Given the description of an element on the screen output the (x, y) to click on. 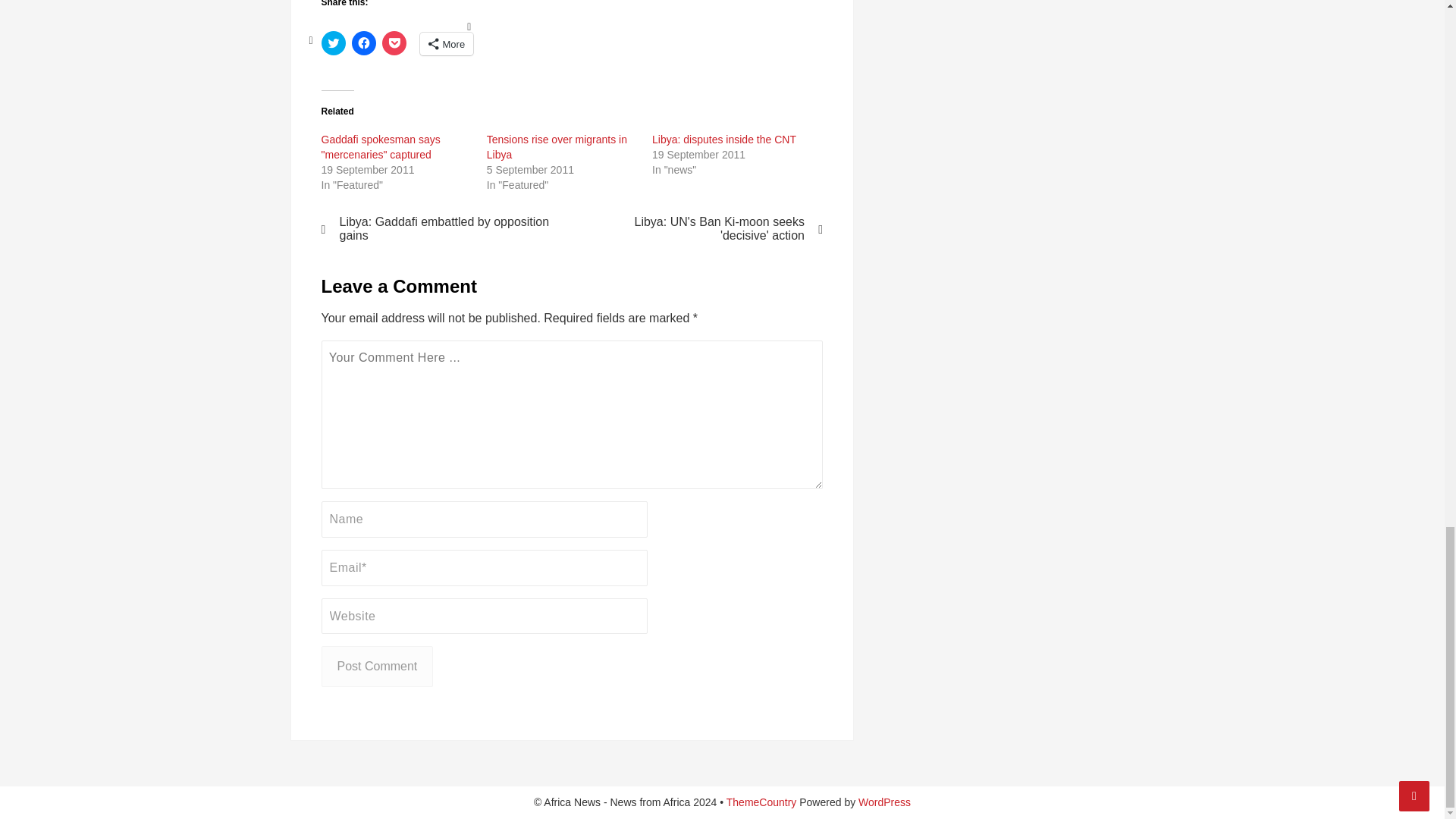
Tensions rise over migrants in Libya (556, 146)
Libya: disputes inside the CNT (724, 139)
Libya: UN's Ban Ki-moon seeks 'decisive' action (707, 228)
Click to share on Pocket (393, 43)
Libya: Gaddafi embattled by opposition gains (436, 228)
Post Comment (377, 666)
Click to share on Twitter (333, 43)
Post Comment (377, 666)
Tensions rise over migrants in Libya (556, 146)
Click to share on Facebook (363, 43)
